Given the description of an element on the screen output the (x, y) to click on. 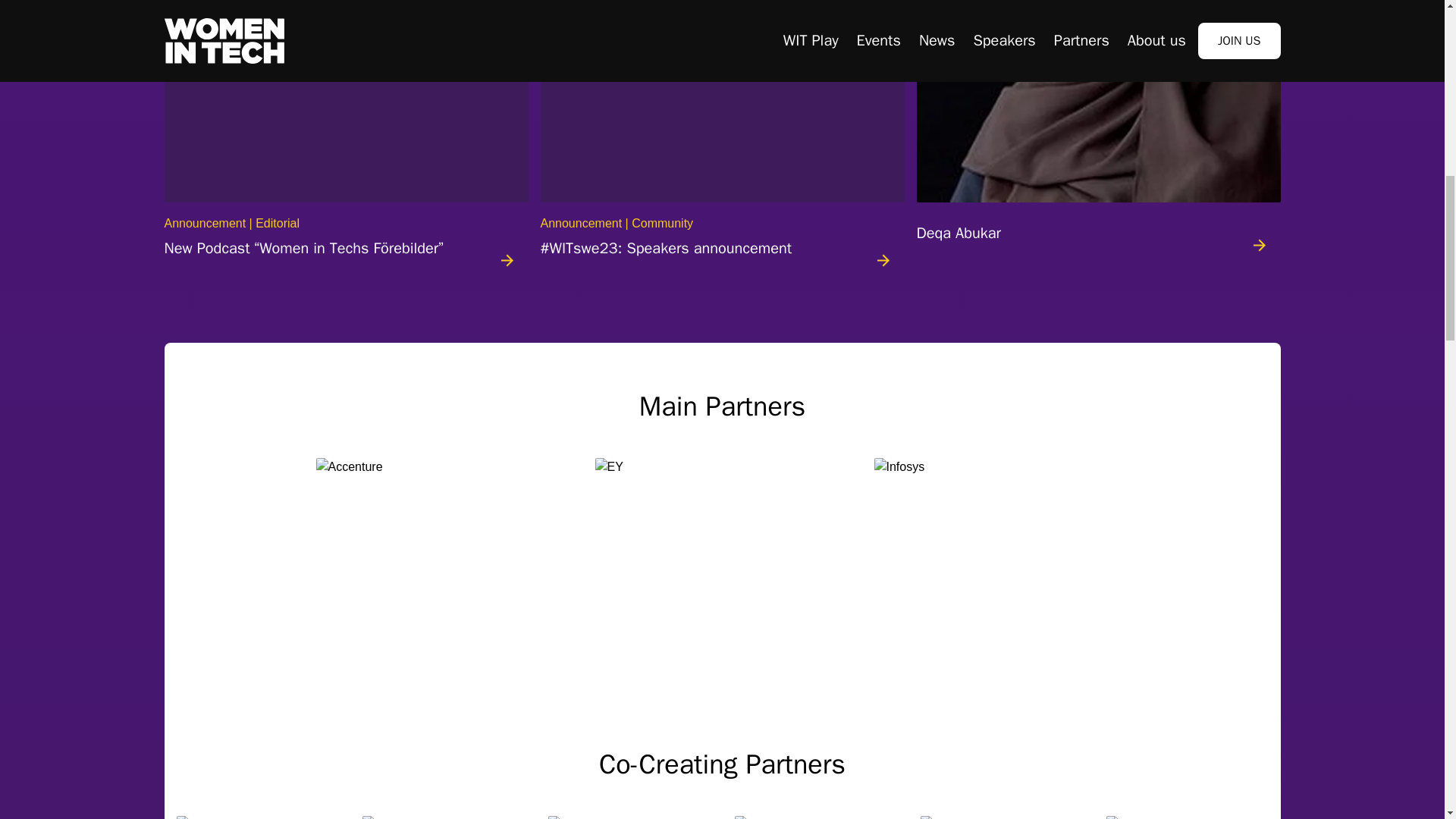
Deqa Abukar (1097, 135)
